Given the description of an element on the screen output the (x, y) to click on. 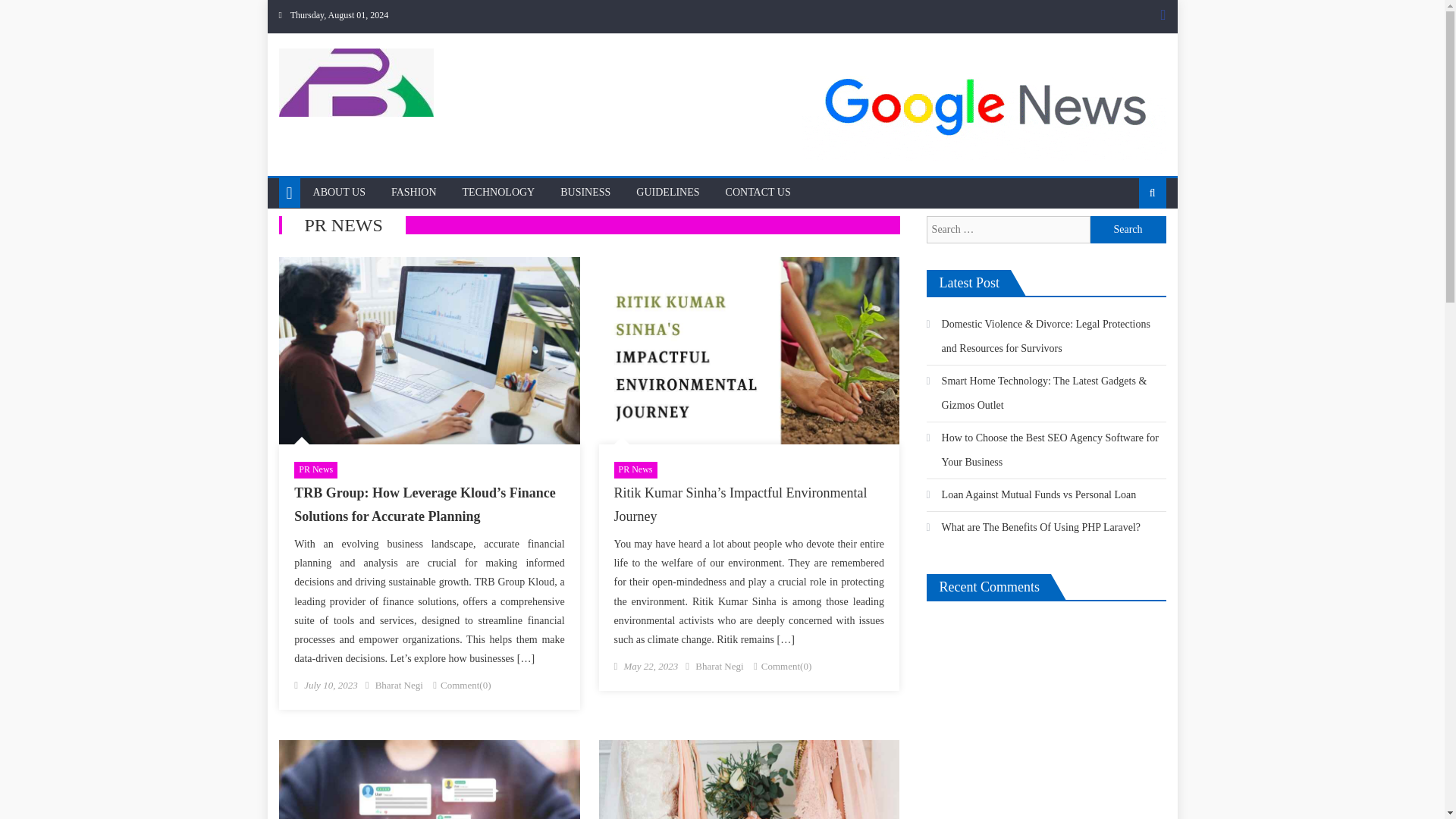
GUIDELINES (667, 192)
ABOUT US (339, 192)
FASHION (414, 192)
BUSINESS (584, 192)
Search (1128, 229)
Search (1128, 241)
Bharat Negi (399, 685)
May 22, 2023 (650, 665)
CONTACT US (758, 192)
July 10, 2023 (330, 685)
TECHNOLOGY (499, 192)
Bharat Negi (718, 665)
Search (1128, 229)
